Given the description of an element on the screen output the (x, y) to click on. 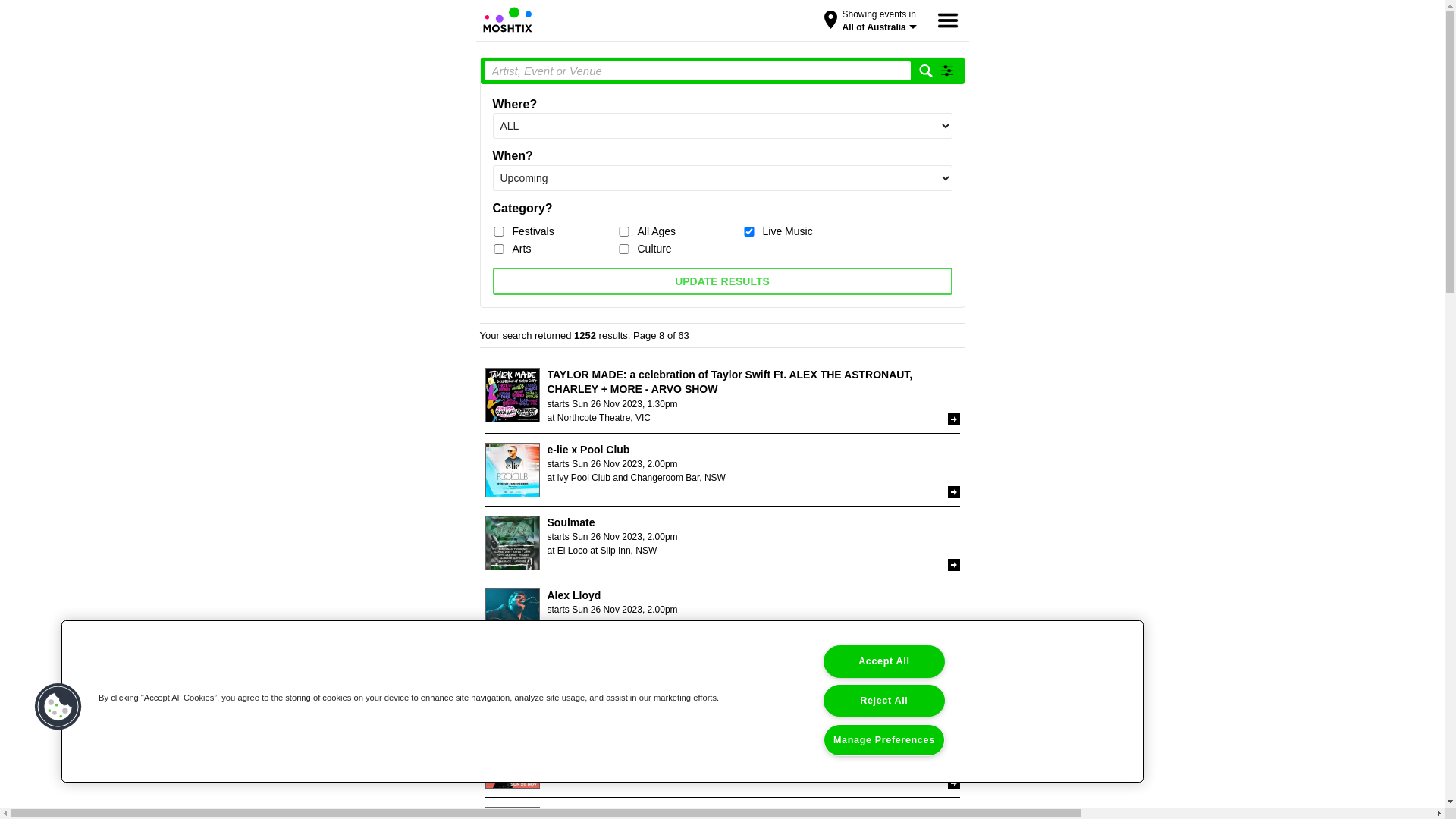
Update Results Element type: text (722, 280)
Manage Preferences Element type: text (883, 740)
Reject All Element type: text (883, 700)
Cookies Button Element type: text (58, 706)
Accept All Element type: text (883, 661)
